Given the description of an element on the screen output the (x, y) to click on. 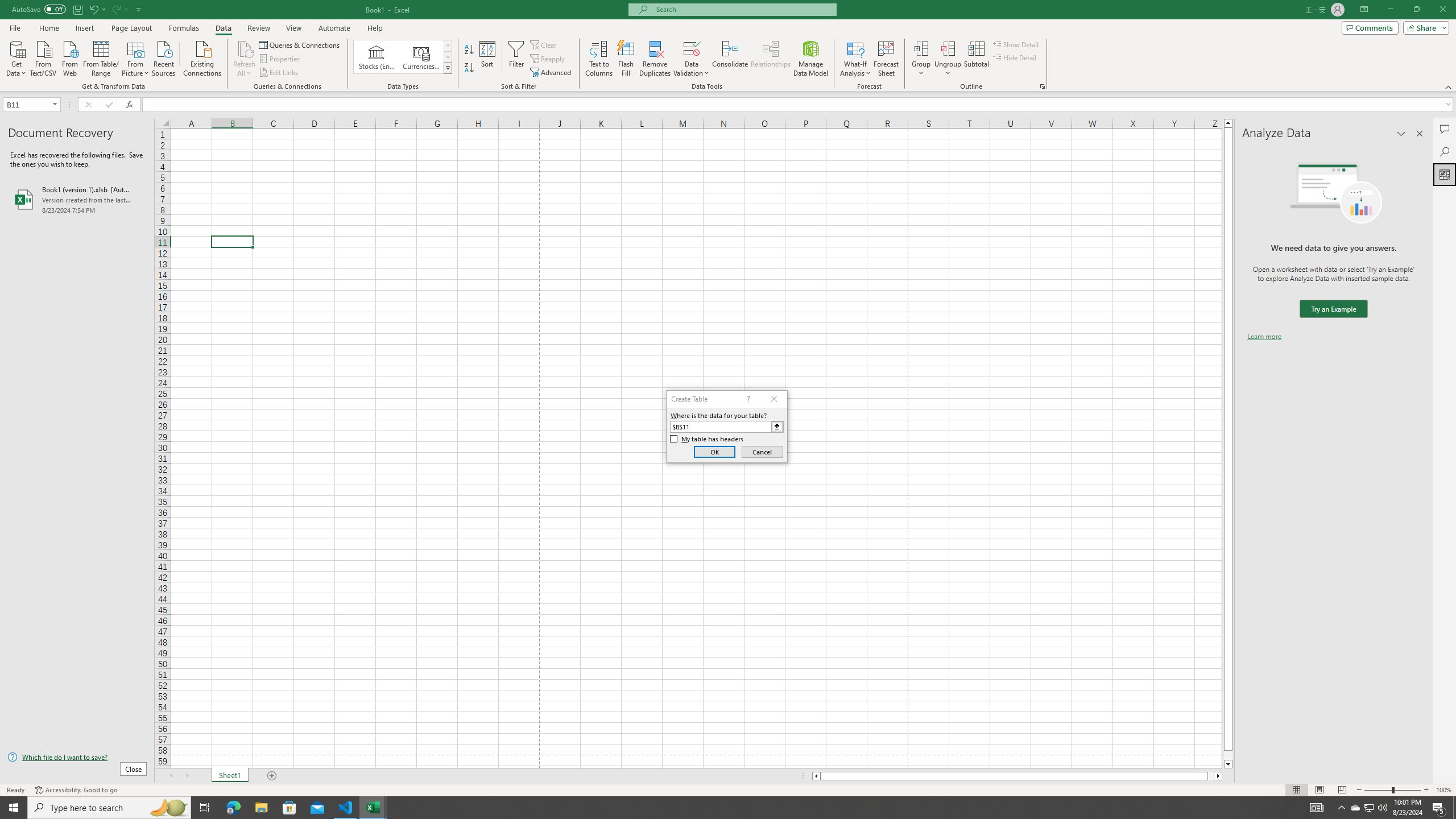
Group... (921, 58)
AutoSave (38, 9)
Close pane (1419, 133)
From Text/CSV (43, 57)
Group and Outline Settings (1042, 85)
Ungroup... (947, 58)
Learn more (1264, 336)
